Given the description of an element on the screen output the (x, y) to click on. 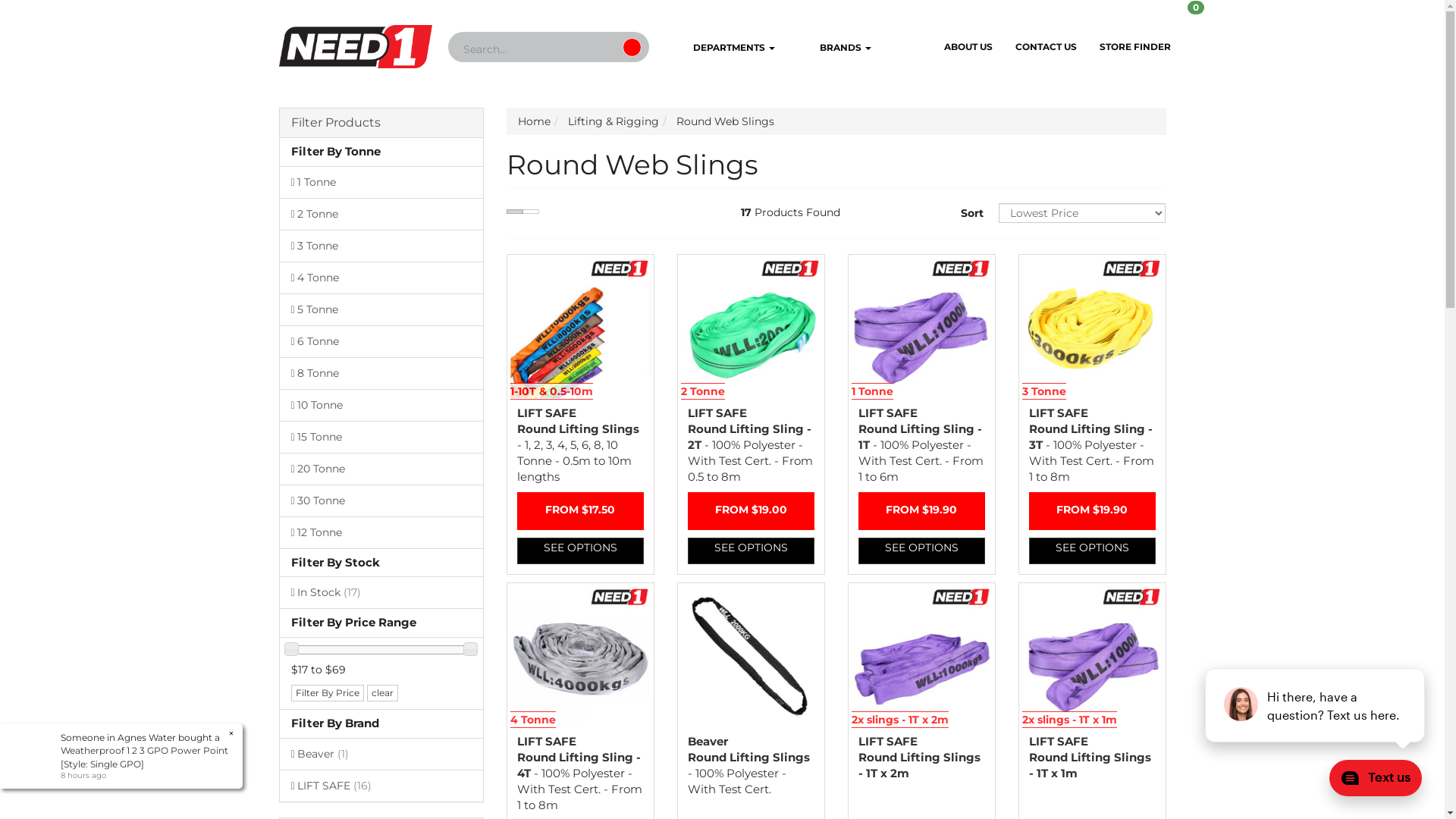
LIFT SAFE
Round Lifting Slings - 1T x 2m Element type: text (919, 757)
20 Tonne Element type: text (380, 468)
Home Element type: text (533, 121)
5 Tonne Element type: text (380, 309)
Need 1 Element type: hover (356, 41)
6 Tonne Element type: text (380, 341)
8 Tonne Element type: text (380, 373)
CONTACT US Element type: text (1046, 46)
15 Tonne Element type: text (380, 436)
0 Element type: text (1207, 21)
SEE OPTIONS Element type: text (580, 550)
STORE FINDER Element type: text (1135, 46)
Filter Products Element type: text (381, 122)
BRANDS Element type: text (834, 48)
DEPARTMENTS Element type: text (721, 48)
2 Tonne Element type: text (380, 213)
podium webchat widget prompt Element type: hover (1315, 705)
Search Element type: text (631, 46)
Beaver (1) Element type: text (380, 753)
SEE OPTIONS Element type: text (921, 550)
SEE OPTIONS Element type: text (750, 550)
Filter By Price Element type: text (327, 692)
Round Web Slings Element type: text (725, 121)
10 Tonne Element type: text (380, 404)
Lifting & Rigging Element type: text (612, 121)
4 Tonne Element type: text (380, 277)
3 Tonne Element type: text (380, 245)
ABOUT US Element type: text (968, 46)
clear Element type: text (382, 692)
In Stock (17) Element type: text (380, 592)
1 Tonne Element type: text (380, 181)
SEE OPTIONS Element type: text (1091, 550)
30 Tonne Element type: text (380, 500)
LIFT SAFE
Round Lifting Slings - 1T x 1m Element type: text (1089, 757)
12 Tonne Element type: text (380, 532)
LIFT SAFE (16) Element type: text (380, 785)
